Given the description of an element on the screen output the (x, y) to click on. 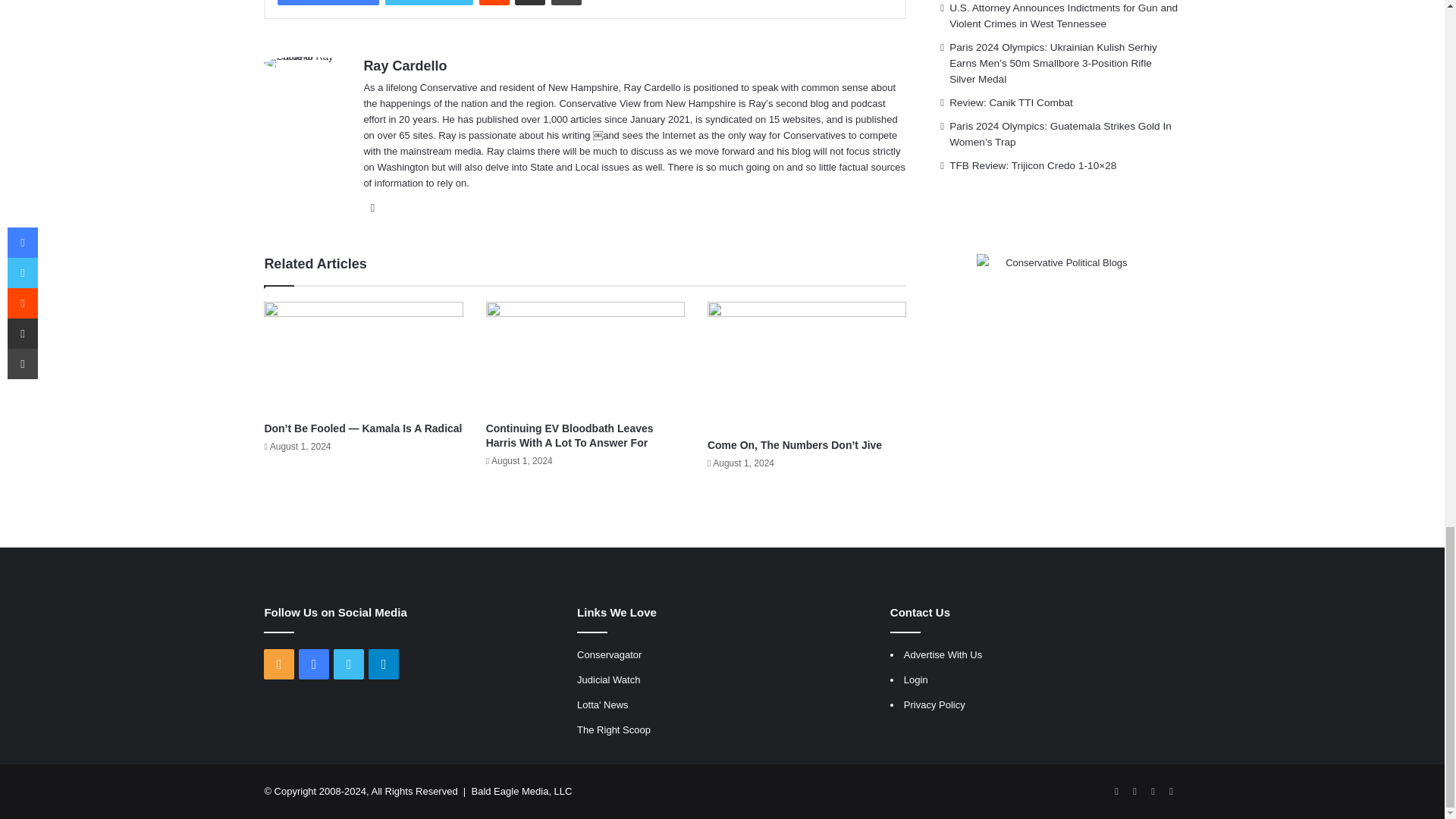
Twitter (429, 2)
Share via Email (529, 2)
Facebook (328, 2)
Reddit (494, 2)
